Given the description of an element on the screen output the (x, y) to click on. 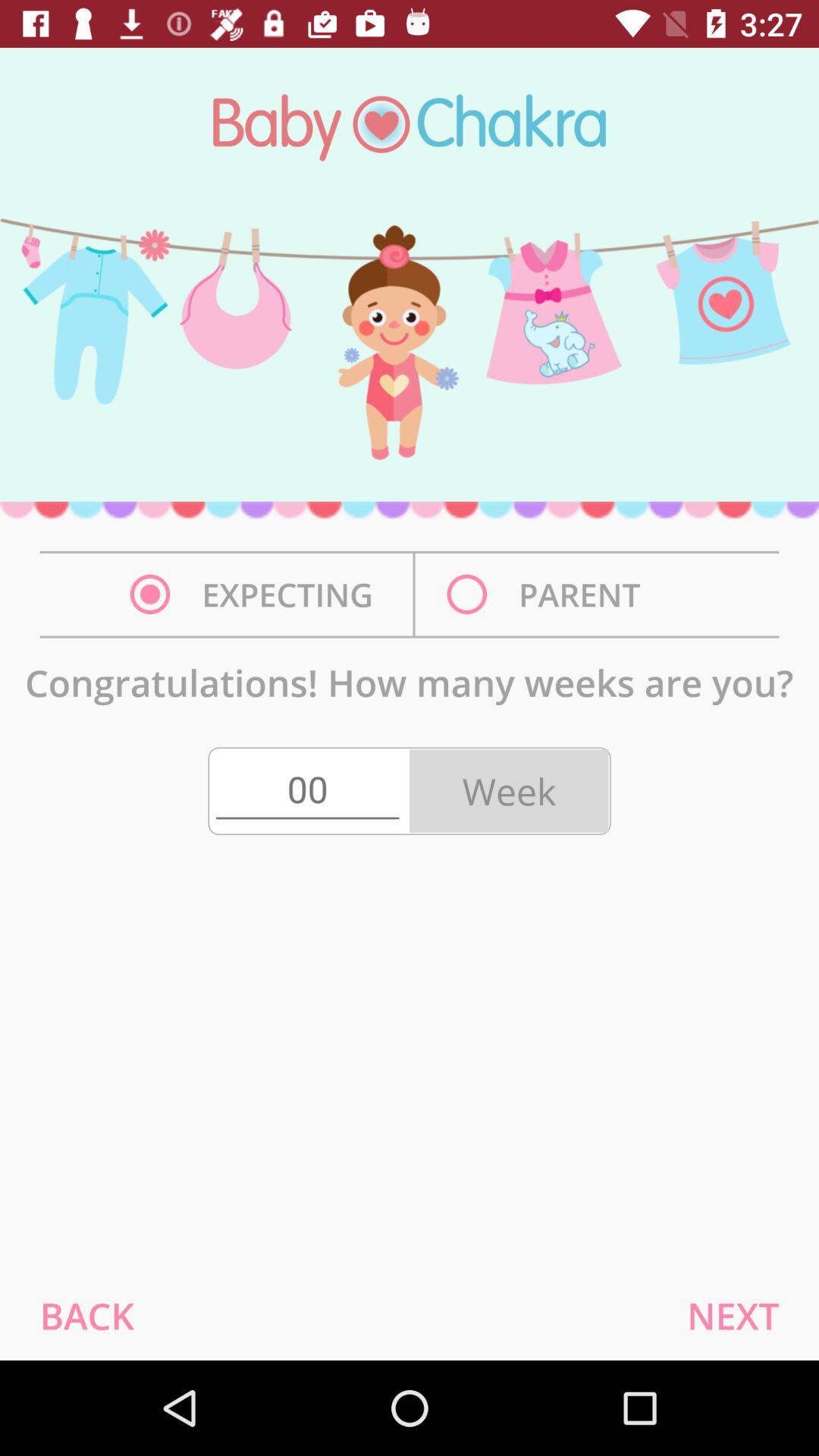
press the expecting on the left (255, 594)
